Given the description of an element on the screen output the (x, y) to click on. 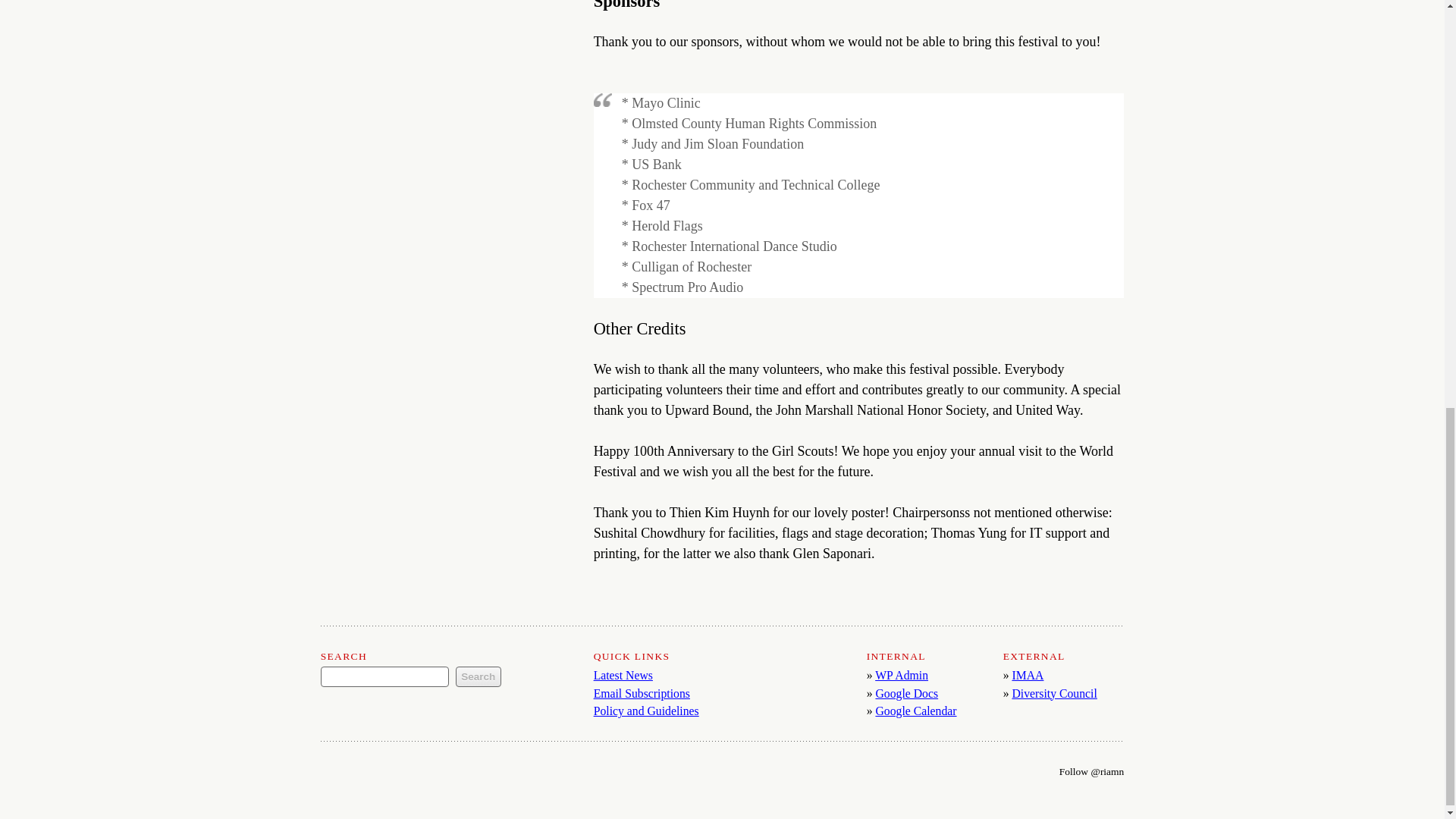
Policy and Guidelines (646, 710)
Search (478, 676)
Latest News (623, 675)
WP Admin (901, 675)
Diversity Council (1053, 692)
Search (478, 676)
IMAA (1027, 675)
Google Calendar (915, 710)
Email Subscriptions (642, 692)
Google Docs (906, 692)
